Given the description of an element on the screen output the (x, y) to click on. 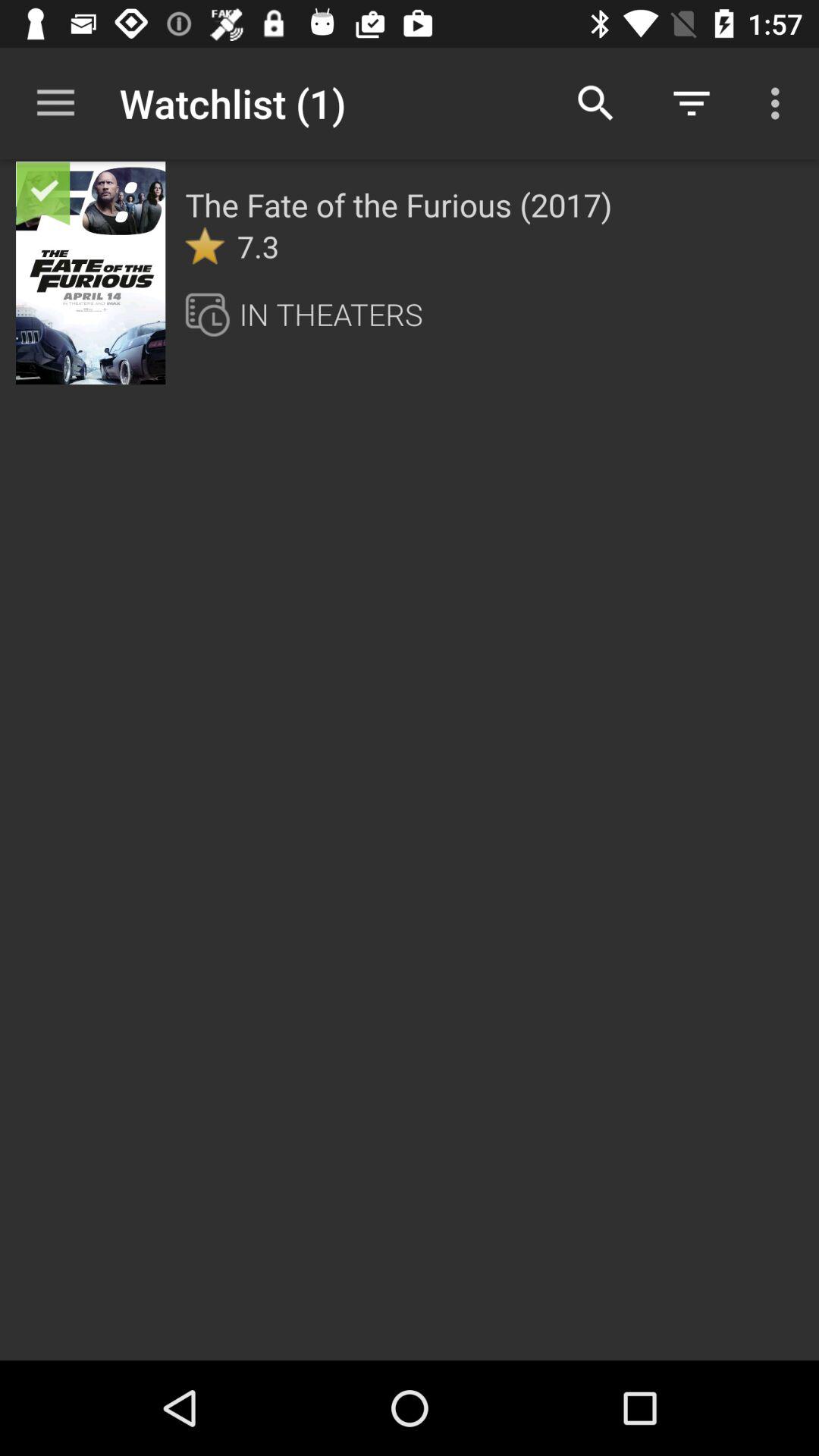
press the item above the the fate of item (595, 103)
